Given the description of an element on the screen output the (x, y) to click on. 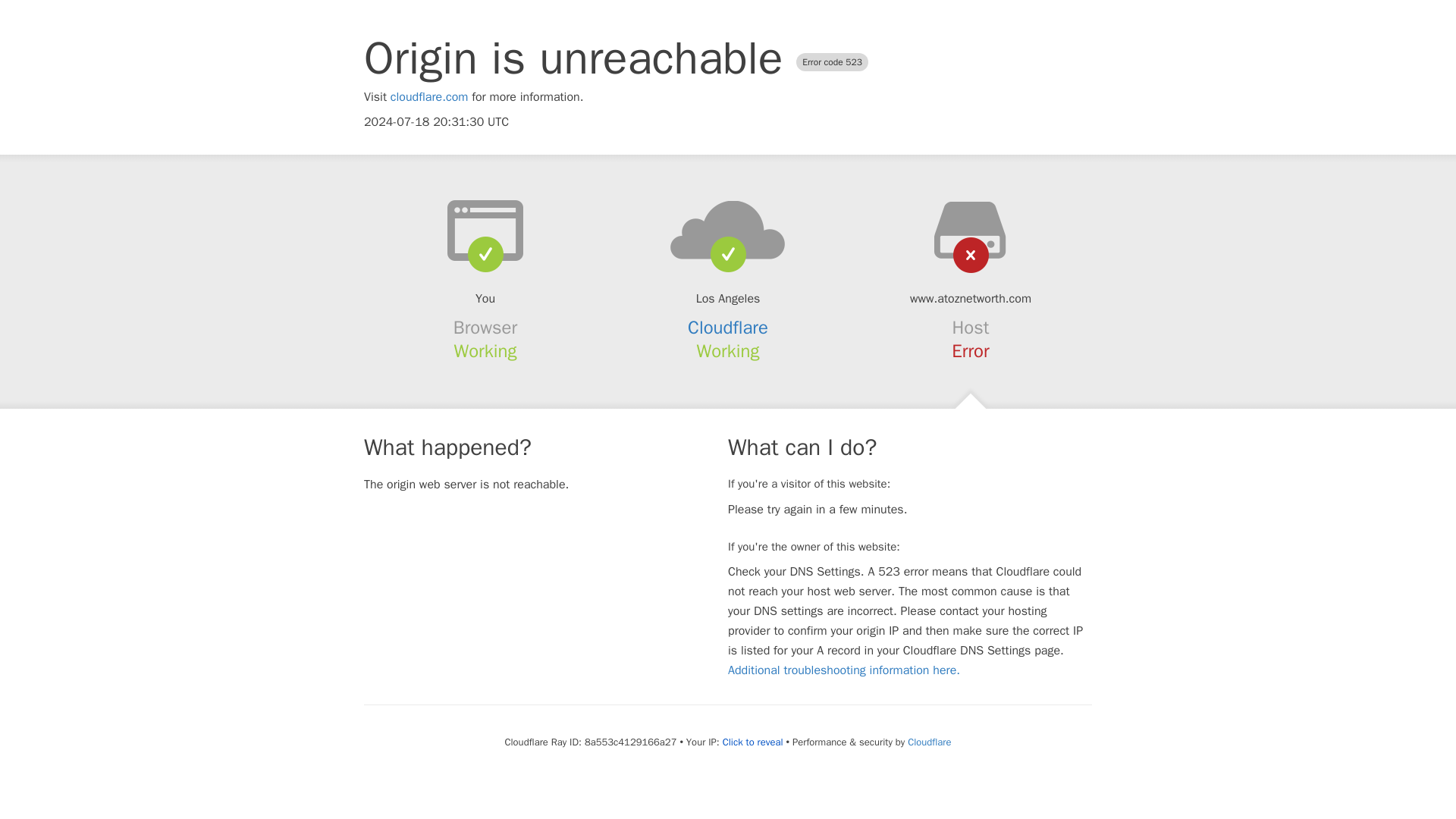
Cloudflare (928, 741)
Additional troubleshooting information here. (843, 670)
Click to reveal (752, 742)
Cloudflare (727, 327)
cloudflare.com (429, 96)
